Given the description of an element on the screen output the (x, y) to click on. 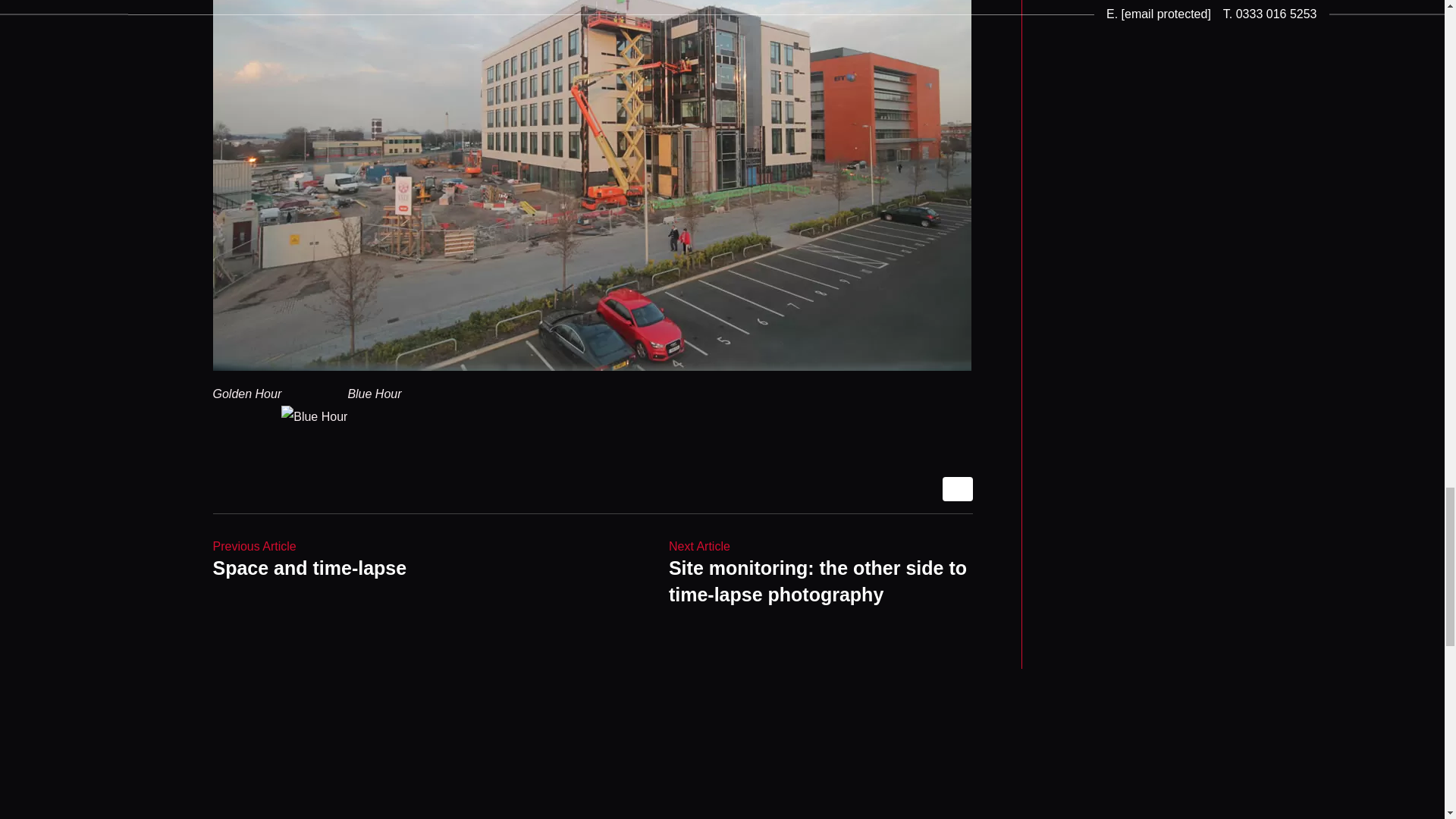
Site monitoring: the other side to time-lapse photography (820, 573)
Space and time-lapse (309, 559)
